Given the description of an element on the screen output the (x, y) to click on. 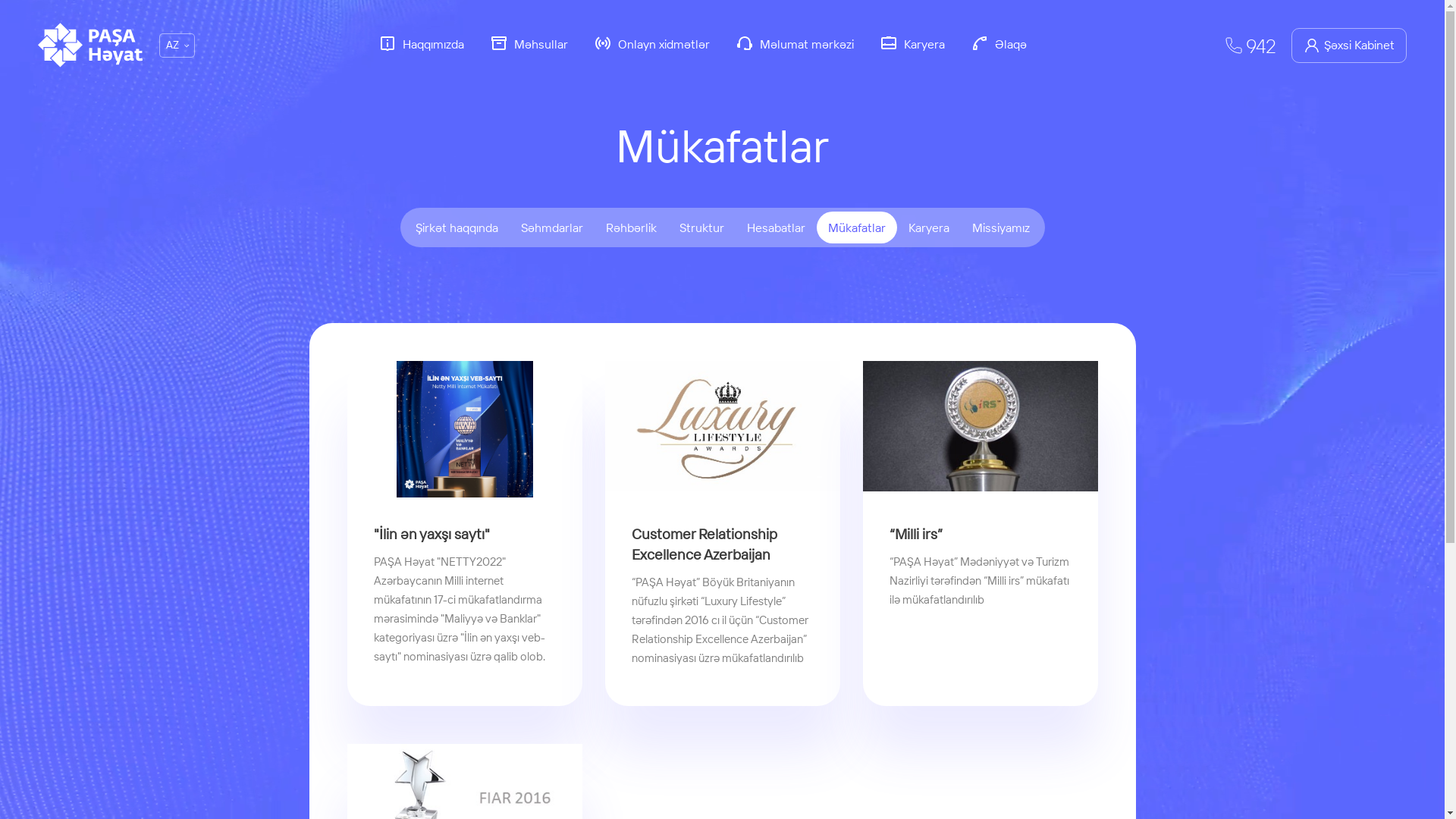
Hesabatlar Element type: text (775, 227)
Karyera Element type: text (928, 227)
Struktur Element type: text (700, 227)
AZ Element type: text (176, 45)
942 Element type: text (1250, 45)
Karyera Element type: text (912, 45)
